Given the description of an element on the screen output the (x, y) to click on. 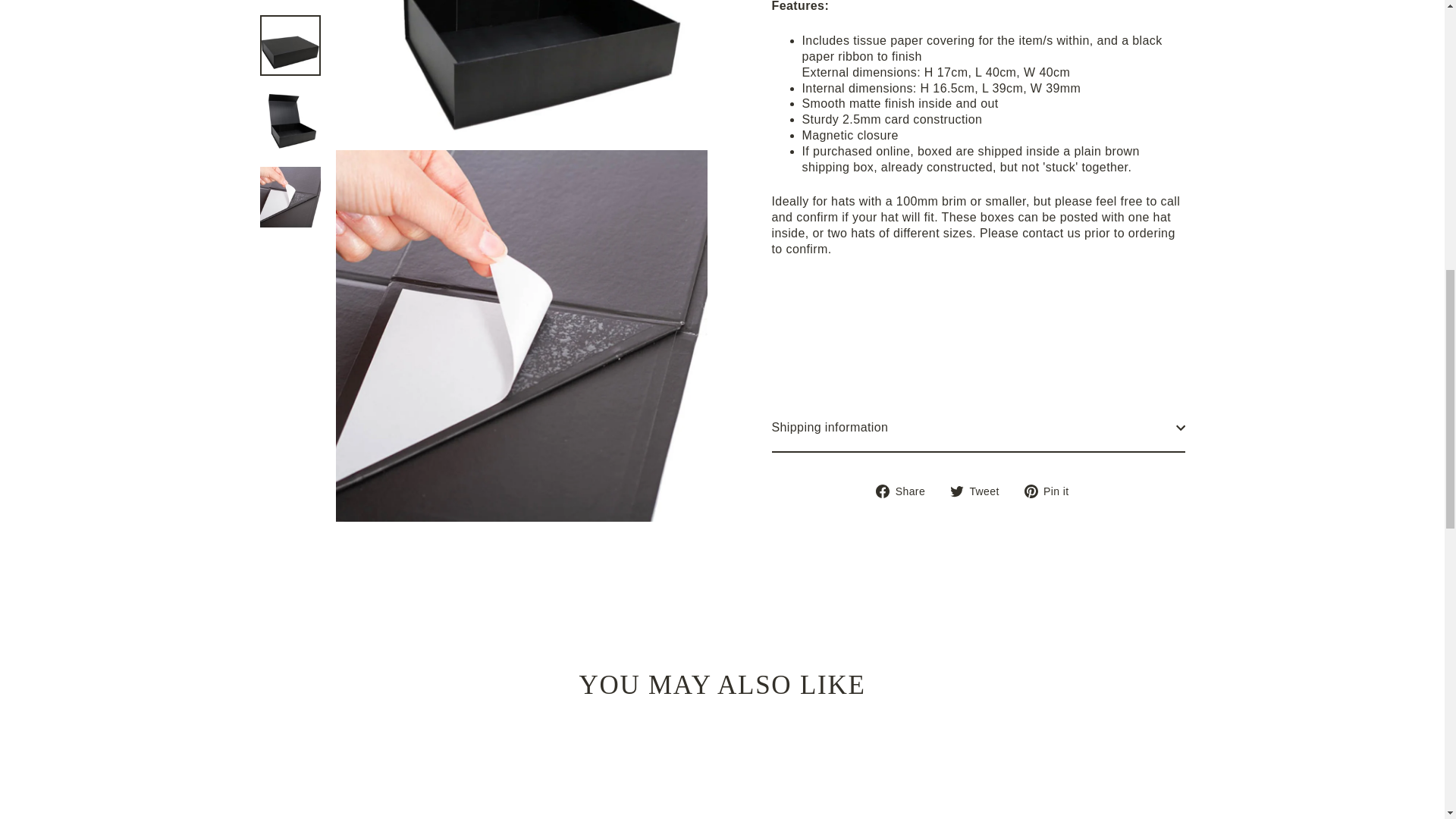
Pin on Pinterest (1052, 284)
Tweet on Twitter (980, 284)
Share on Facebook (906, 284)
